Given the description of an element on the screen output the (x, y) to click on. 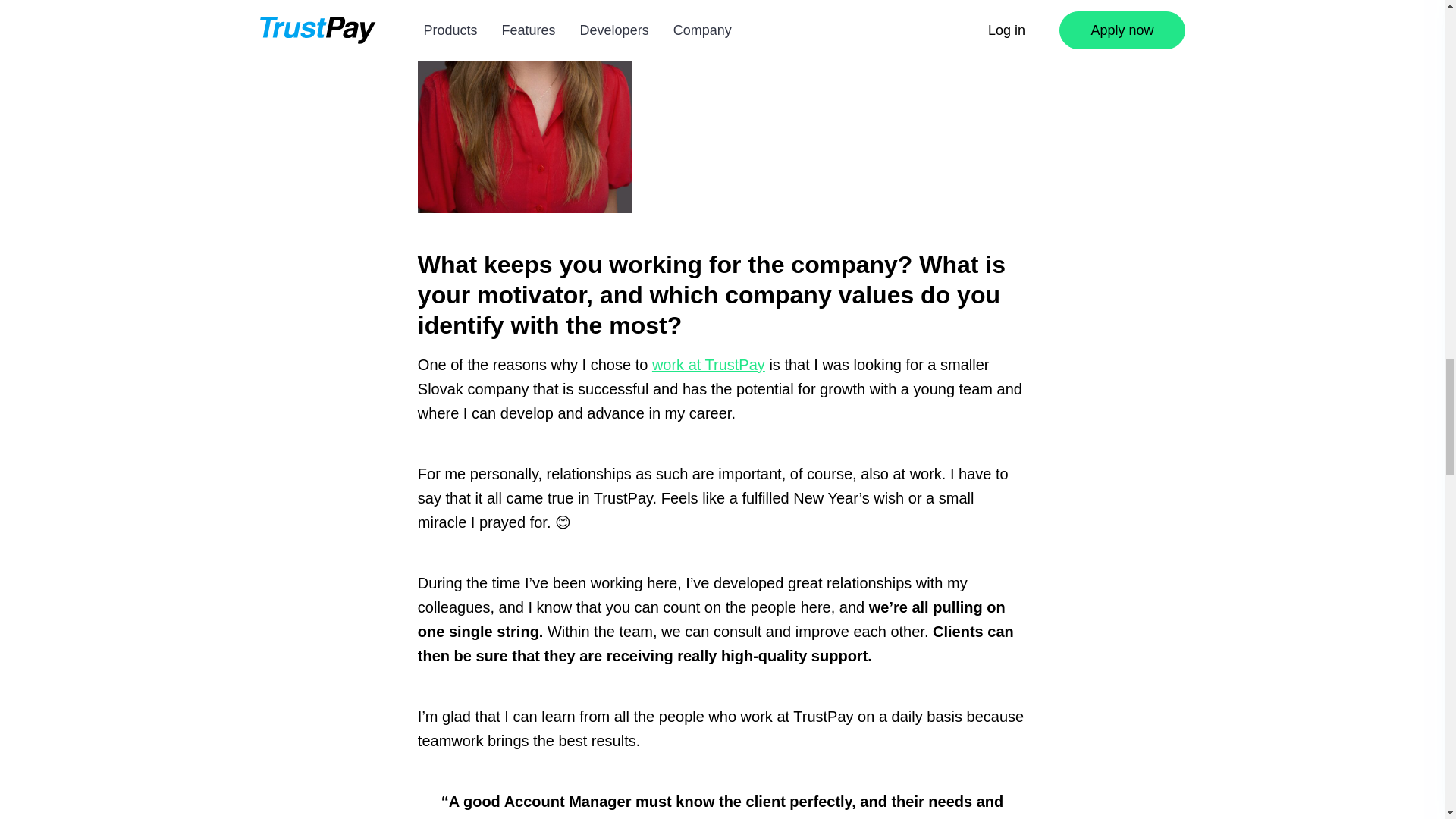
work at TrustPay (708, 364)
